Given the description of an element on the screen output the (x, y) to click on. 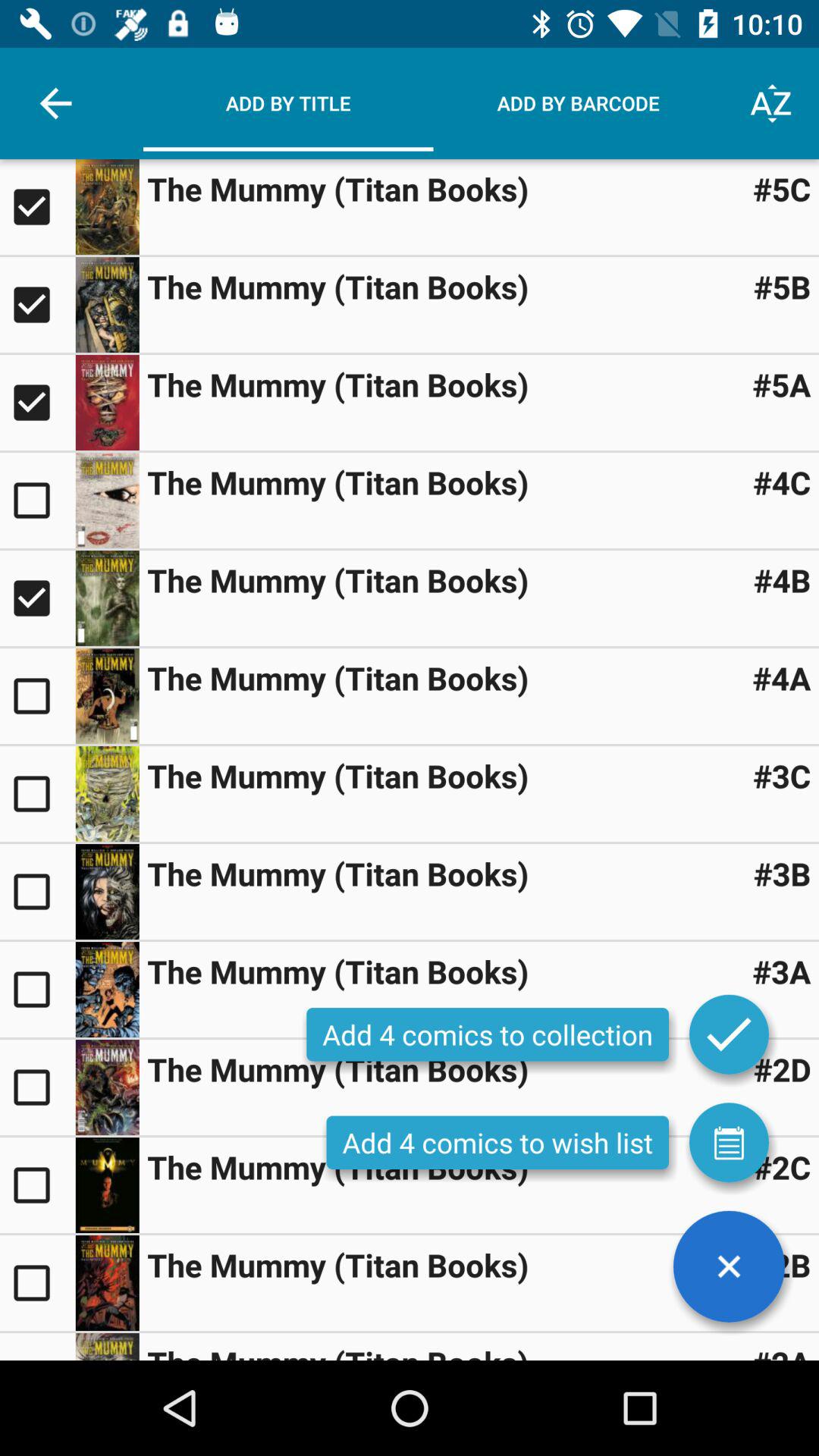
enlarge image (107, 402)
